Given the description of an element on the screen output the (x, y) to click on. 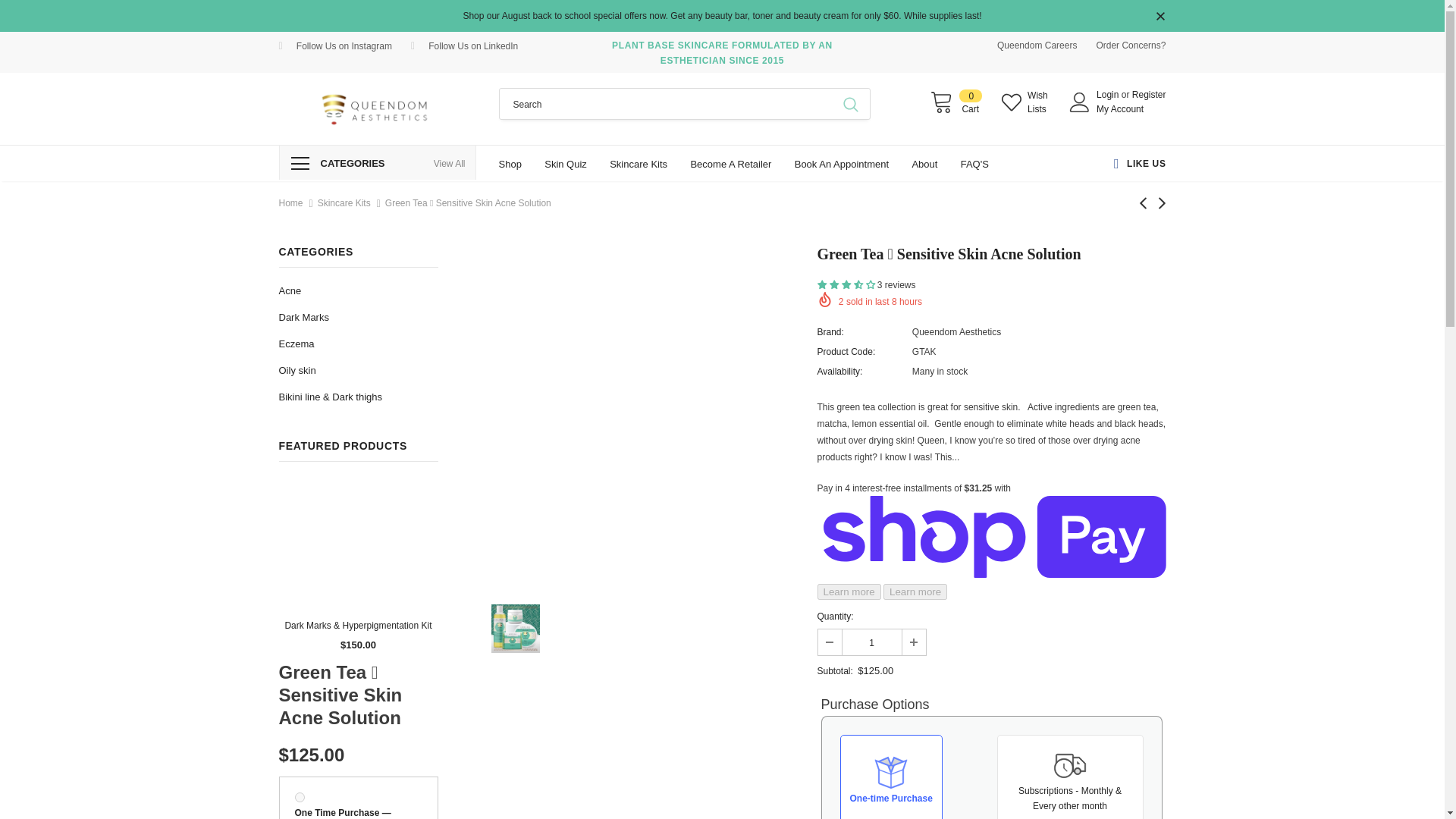
View All (449, 163)
My Account (1119, 109)
User Icon (1079, 102)
Skin Quiz (565, 163)
Wish Lists (1027, 101)
close (1160, 16)
Logo (377, 108)
1 (871, 642)
Login (1108, 94)
